Given the description of an element on the screen output the (x, y) to click on. 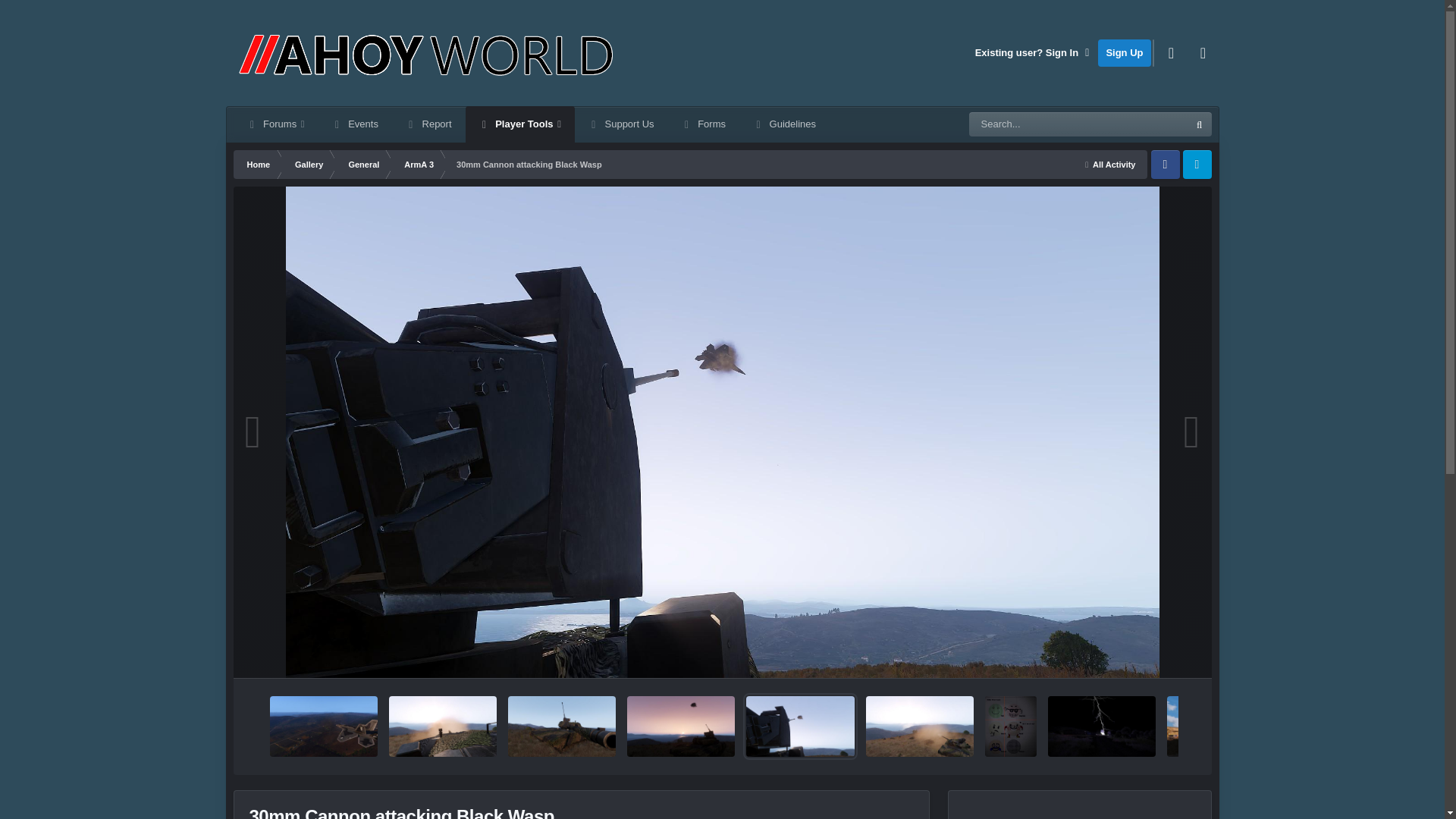
View the image Angara from barrel view (561, 726)
Home (257, 164)
Report (428, 124)
Customizer (1172, 52)
Existing user? Sign In   (1033, 52)
View the image Black Wasp getting shot by a Tigris (323, 726)
Forums (275, 124)
View the image Angara shooting (920, 726)
Support Us (621, 124)
Home (257, 164)
View the image Angara attacking in the sunset (681, 726)
Sign Up (1123, 52)
View the image Angara shooting at a Slammer UP (442, 726)
Player Tools (520, 124)
